Given the description of an element on the screen output the (x, y) to click on. 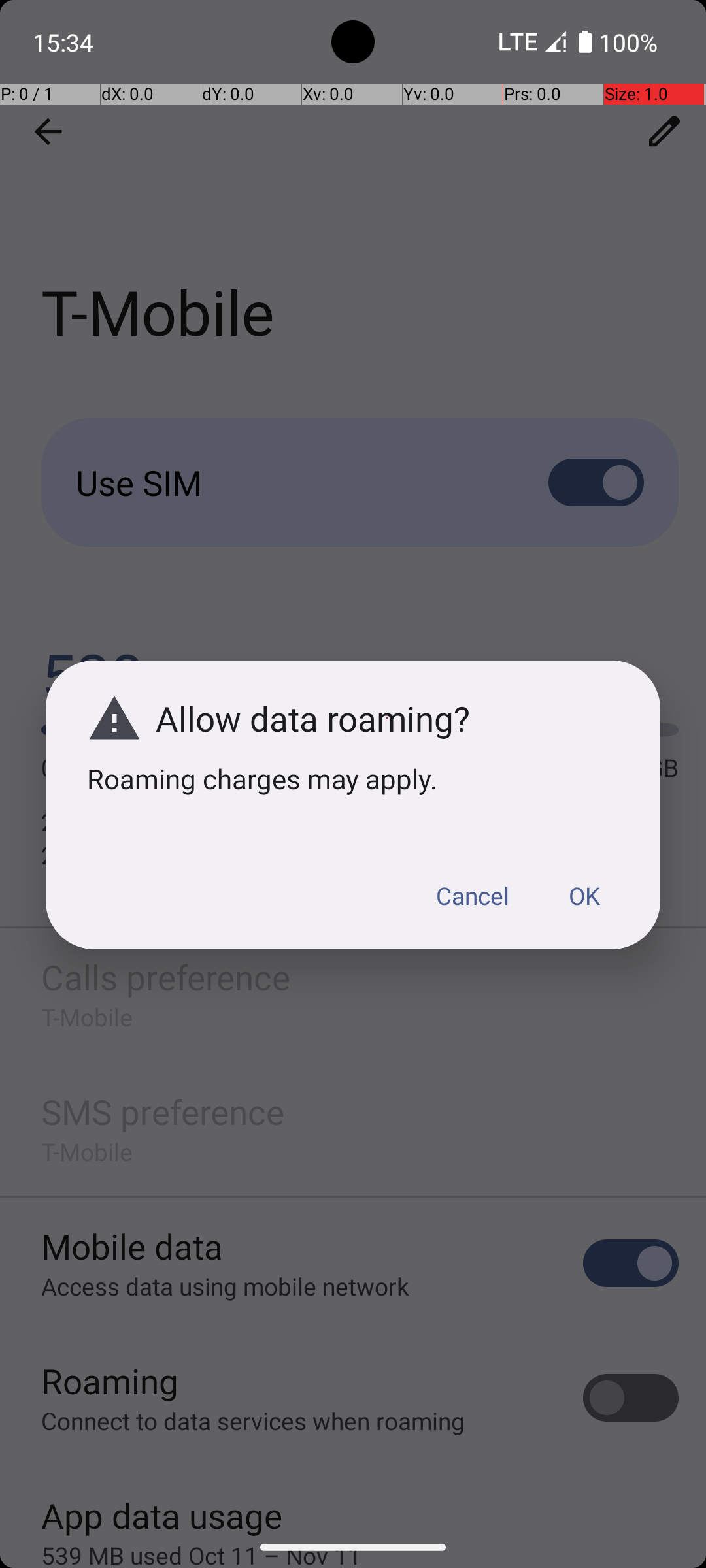
Allow data roaming? Element type: android.widget.TextView (387, 718)
Roaming charges may apply. Element type: android.widget.TextView (352, 778)
